Given the description of an element on the screen output the (x, y) to click on. 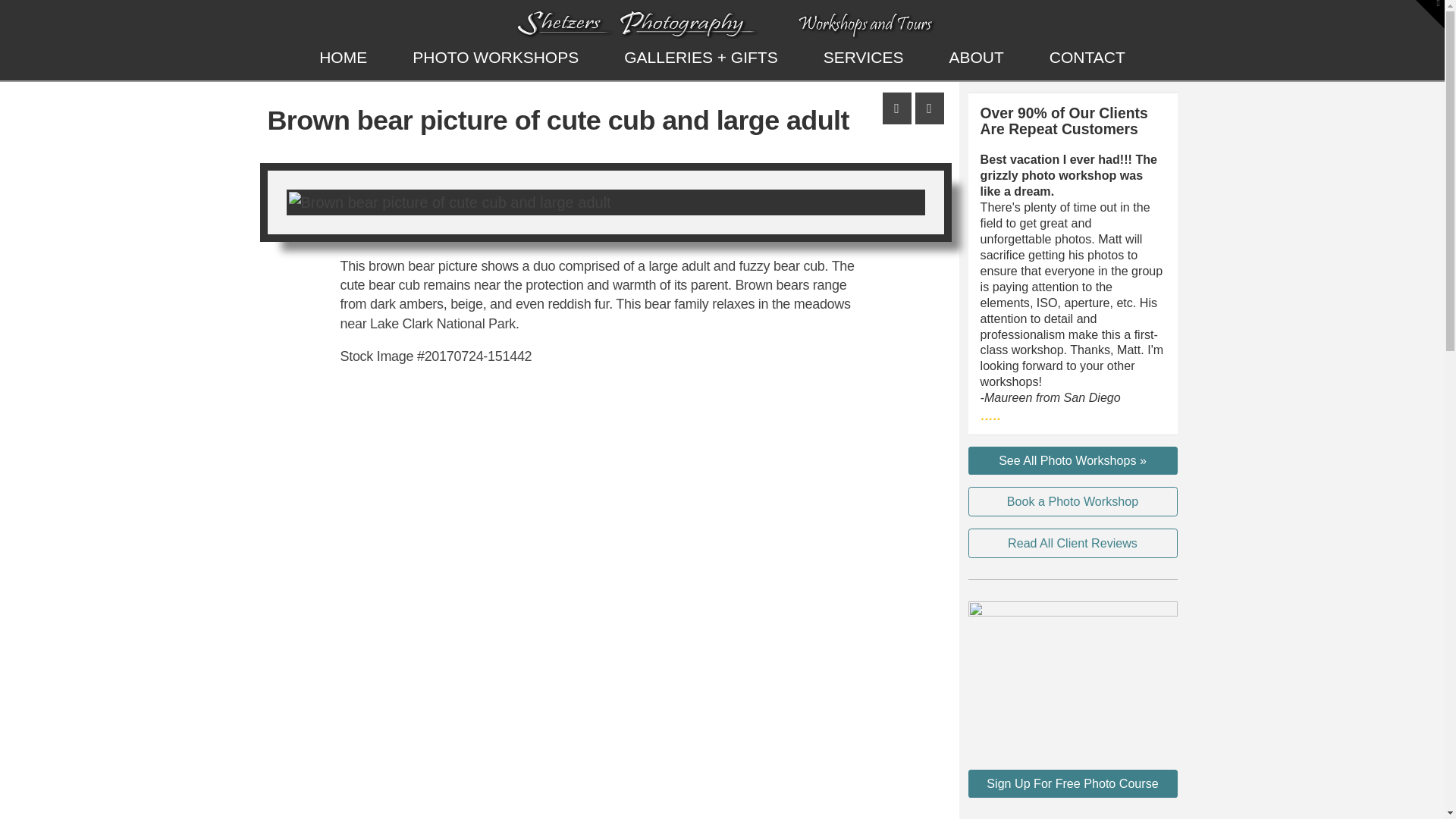
ABOUT (976, 57)
SERVICES (863, 57)
Home (343, 57)
Our Services (863, 57)
PHOTO WORKSHOPS (495, 57)
HOME (343, 57)
